Given the description of an element on the screen output the (x, y) to click on. 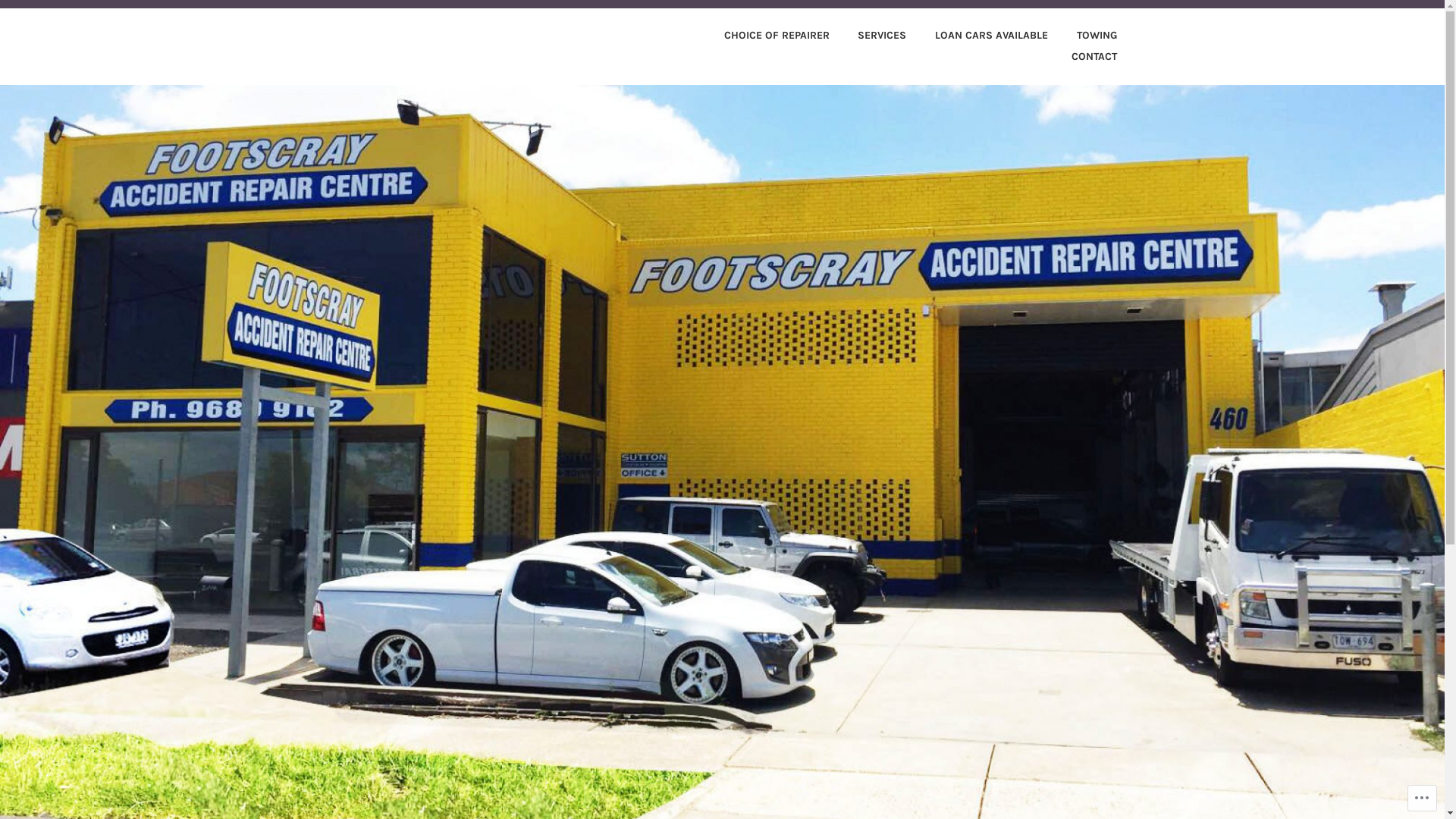
LOAN CARS AVAILABLE Element type: text (978, 36)
FOOTSCRAY ACCIDENT REPAIR CENTRE Element type: text (616, 62)
CONTACT Element type: text (1081, 57)
CHOICE OF REPAIRER Element type: text (763, 36)
SERVICES Element type: text (869, 36)
TOWING Element type: text (1084, 36)
